Given the description of an element on the screen output the (x, y) to click on. 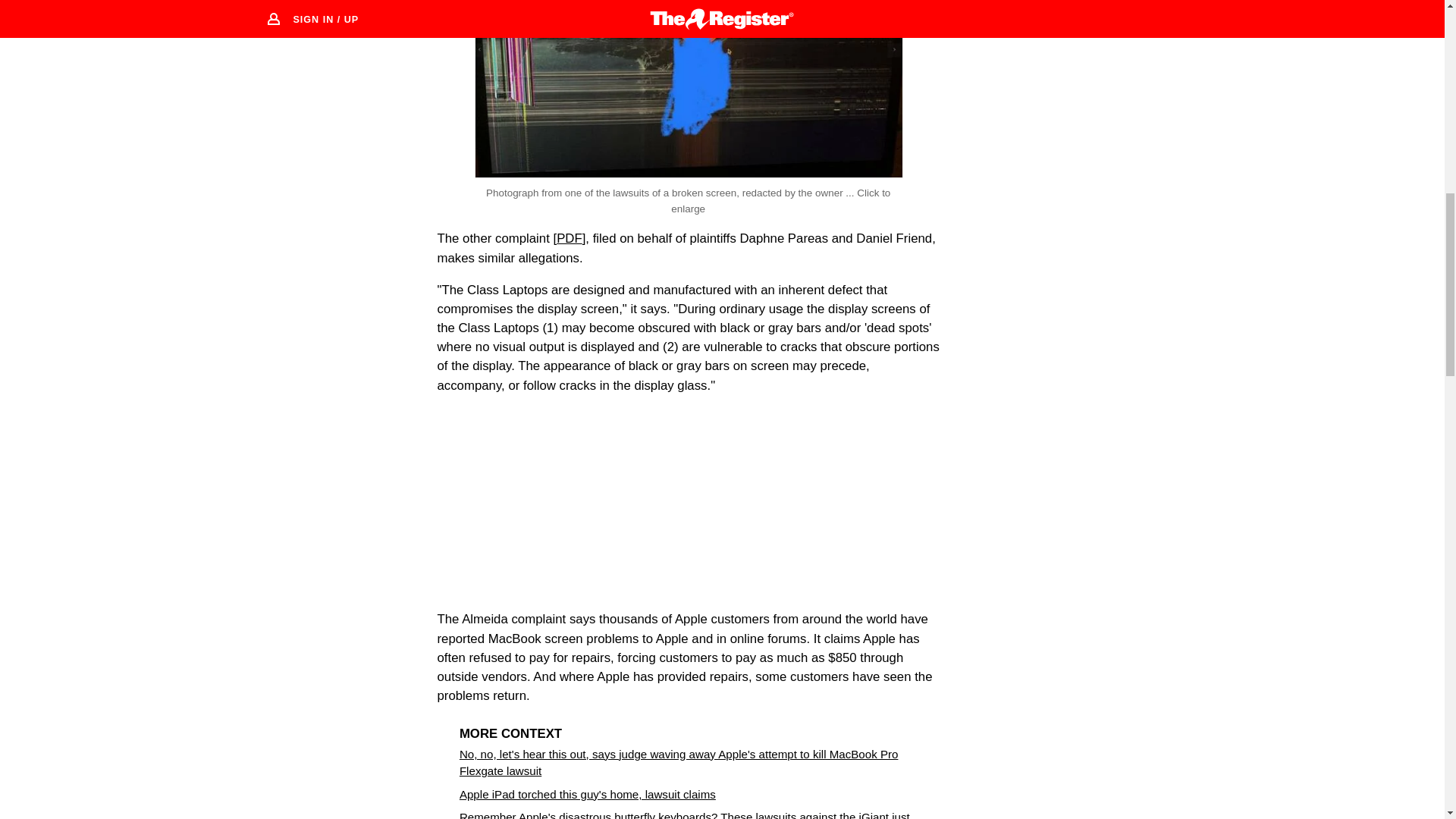
Image of flawed Apple MacBook screen from Almeida complaint (688, 89)
